Given the description of an element on the screen output the (x, y) to click on. 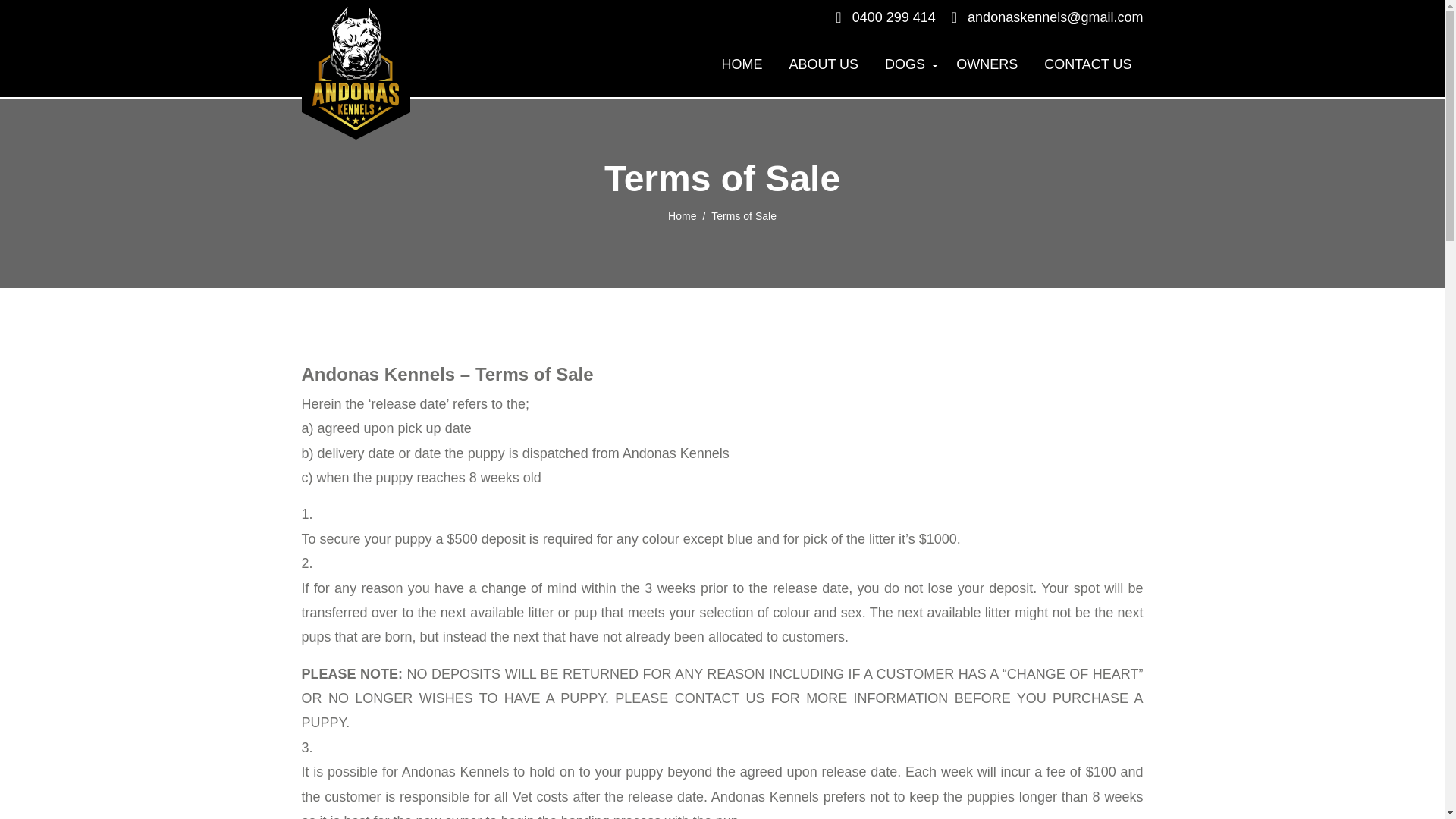
HOME (741, 65)
Home (689, 216)
DOGS (906, 65)
CONTACT US (1087, 65)
Go to Andonas Kennels. (689, 216)
ABOUT US (823, 65)
OWNERS (986, 65)
0400 299 414 (884, 17)
